Given the description of an element on the screen output the (x, y) to click on. 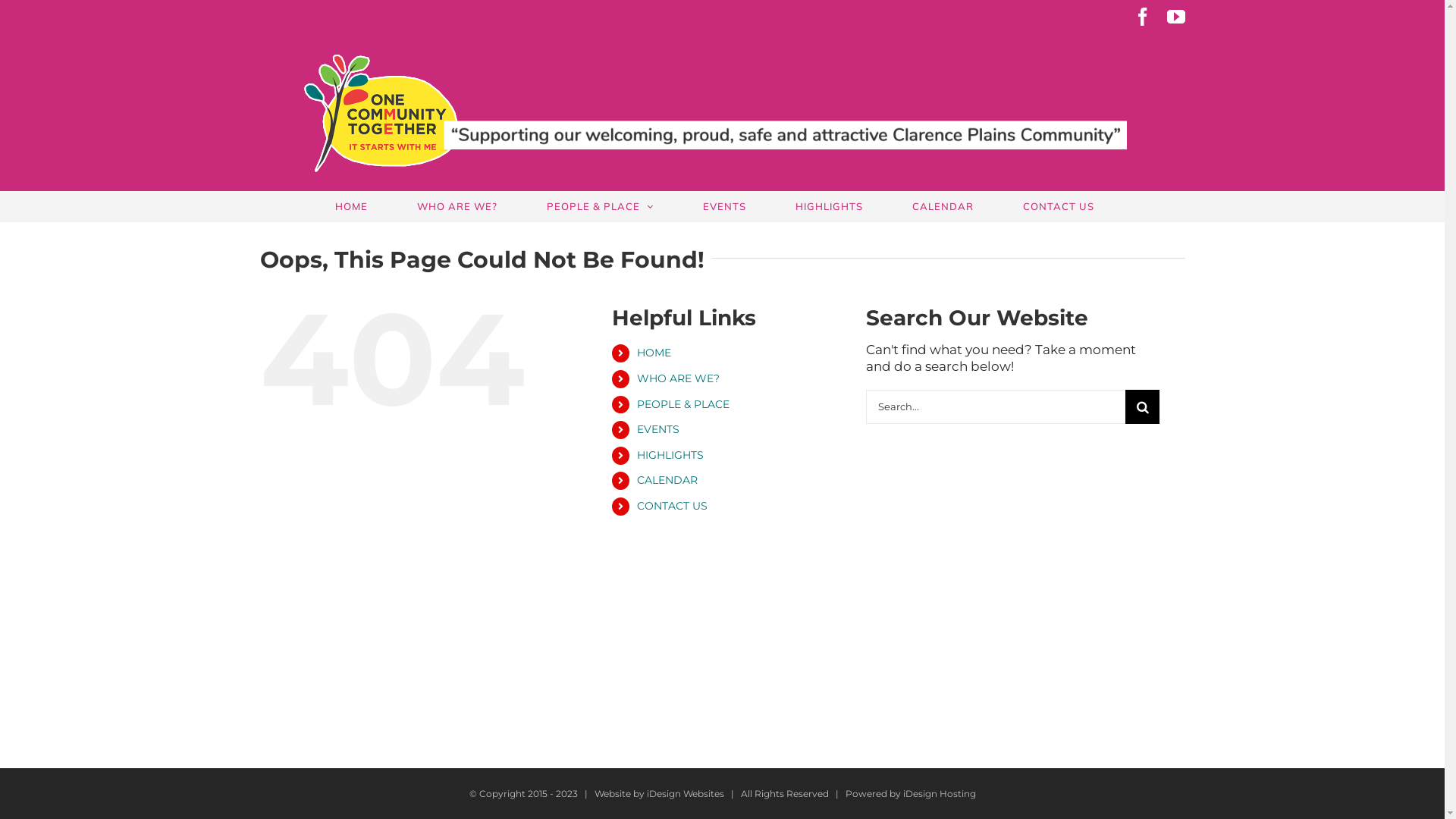
iDesign Hosting Element type: text (938, 793)
HOME Element type: text (351, 206)
iDesign Websites Element type: text (684, 793)
CONTACT US Element type: text (672, 505)
CALENDAR Element type: text (942, 206)
HOME Element type: text (654, 352)
Facebook Element type: text (1141, 16)
CONTACT US Element type: text (1057, 206)
YouTube Element type: text (1175, 16)
WHO ARE WE? Element type: text (678, 378)
HIGHLIGHTS Element type: text (828, 206)
WHO ARE WE? Element type: text (457, 206)
PEOPLE & PLACE Element type: text (599, 206)
HIGHLIGHTS Element type: text (670, 454)
EVENTS Element type: text (658, 429)
CALENDAR Element type: text (667, 479)
EVENTS Element type: text (723, 206)
PEOPLE & PLACE Element type: text (683, 404)
